Given the description of an element on the screen output the (x, y) to click on. 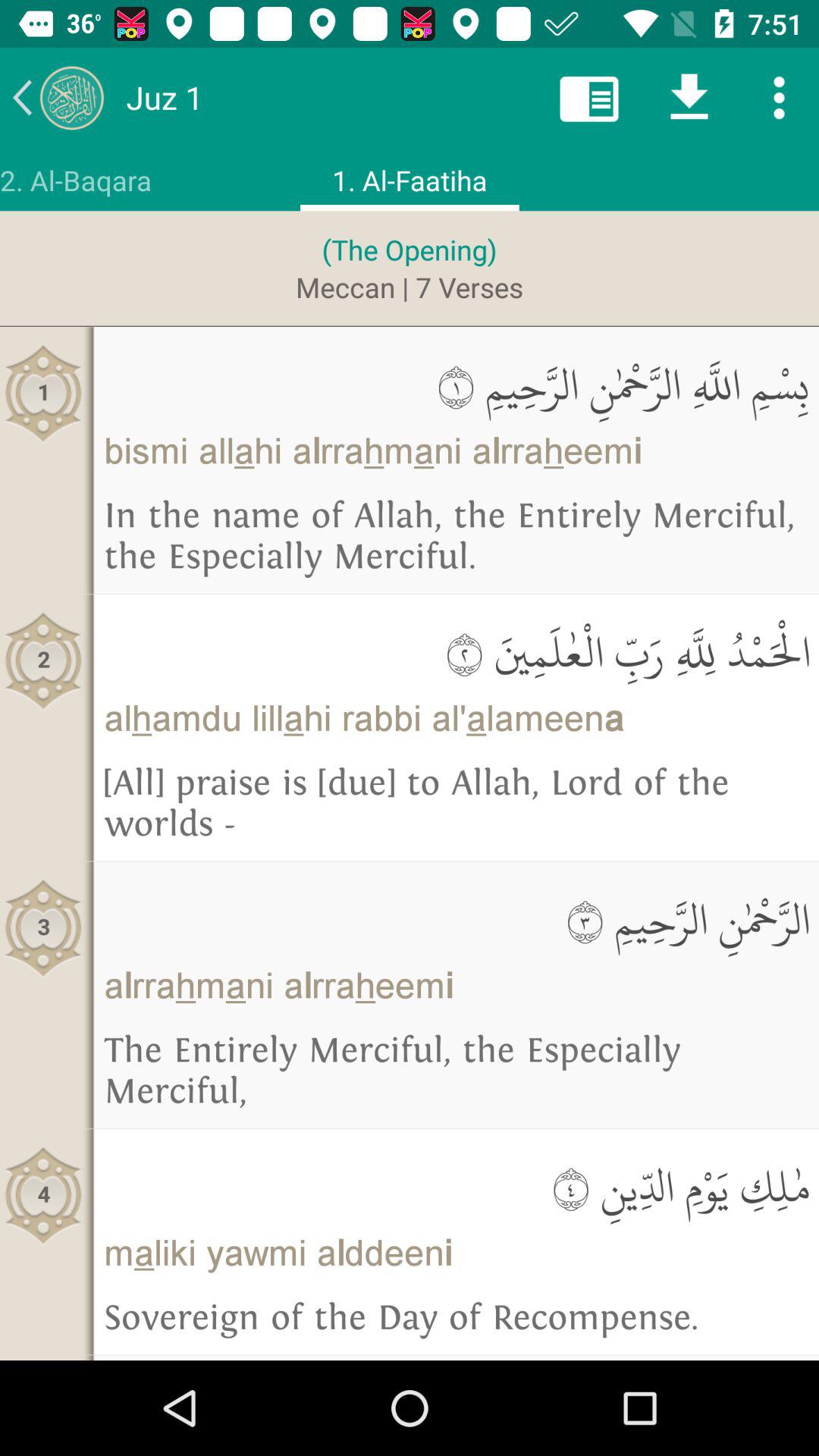
more options button (779, 97)
